Given the description of an element on the screen output the (x, y) to click on. 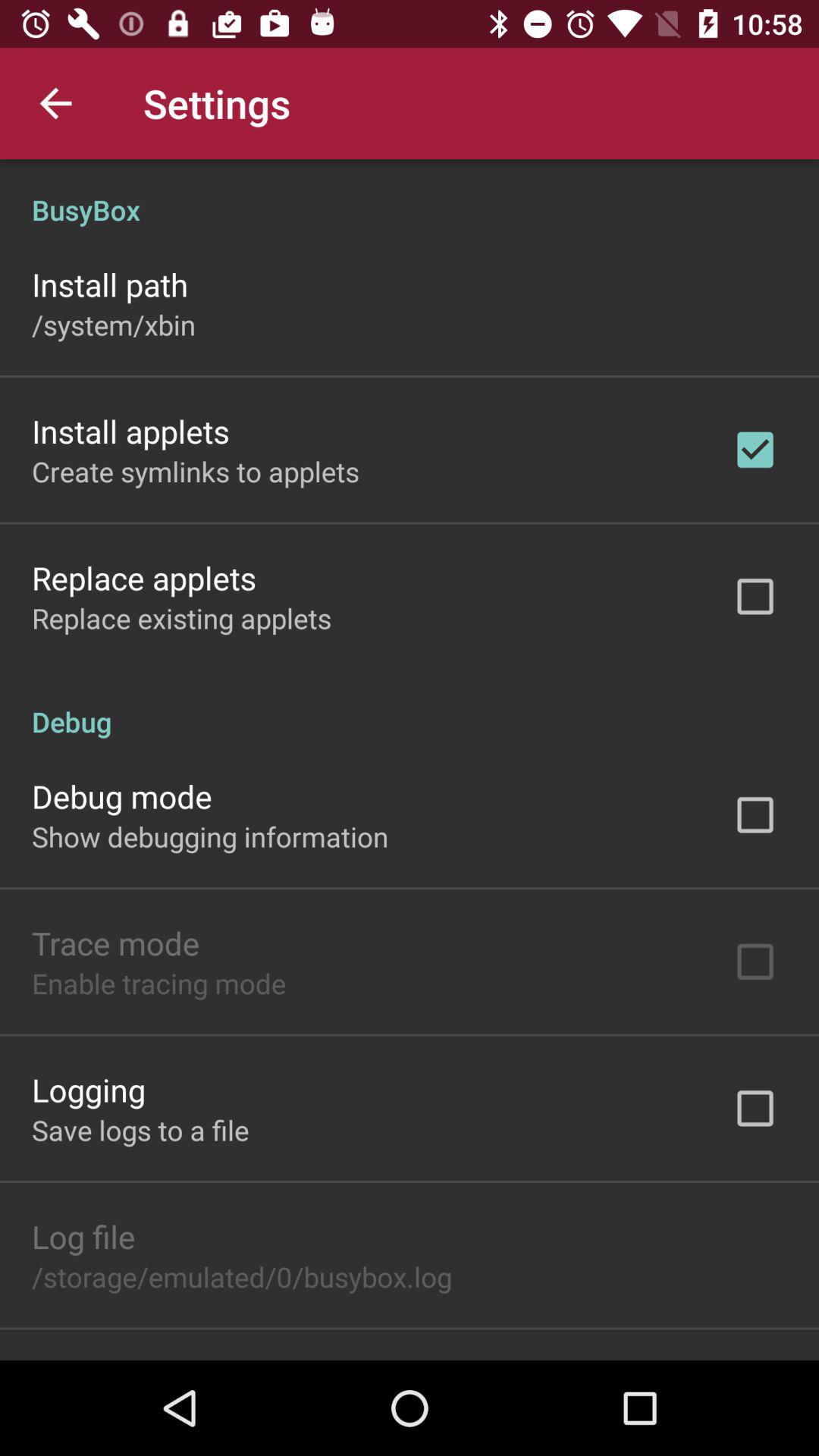
open the item to the left of the settings item (55, 103)
